Given the description of an element on the screen output the (x, y) to click on. 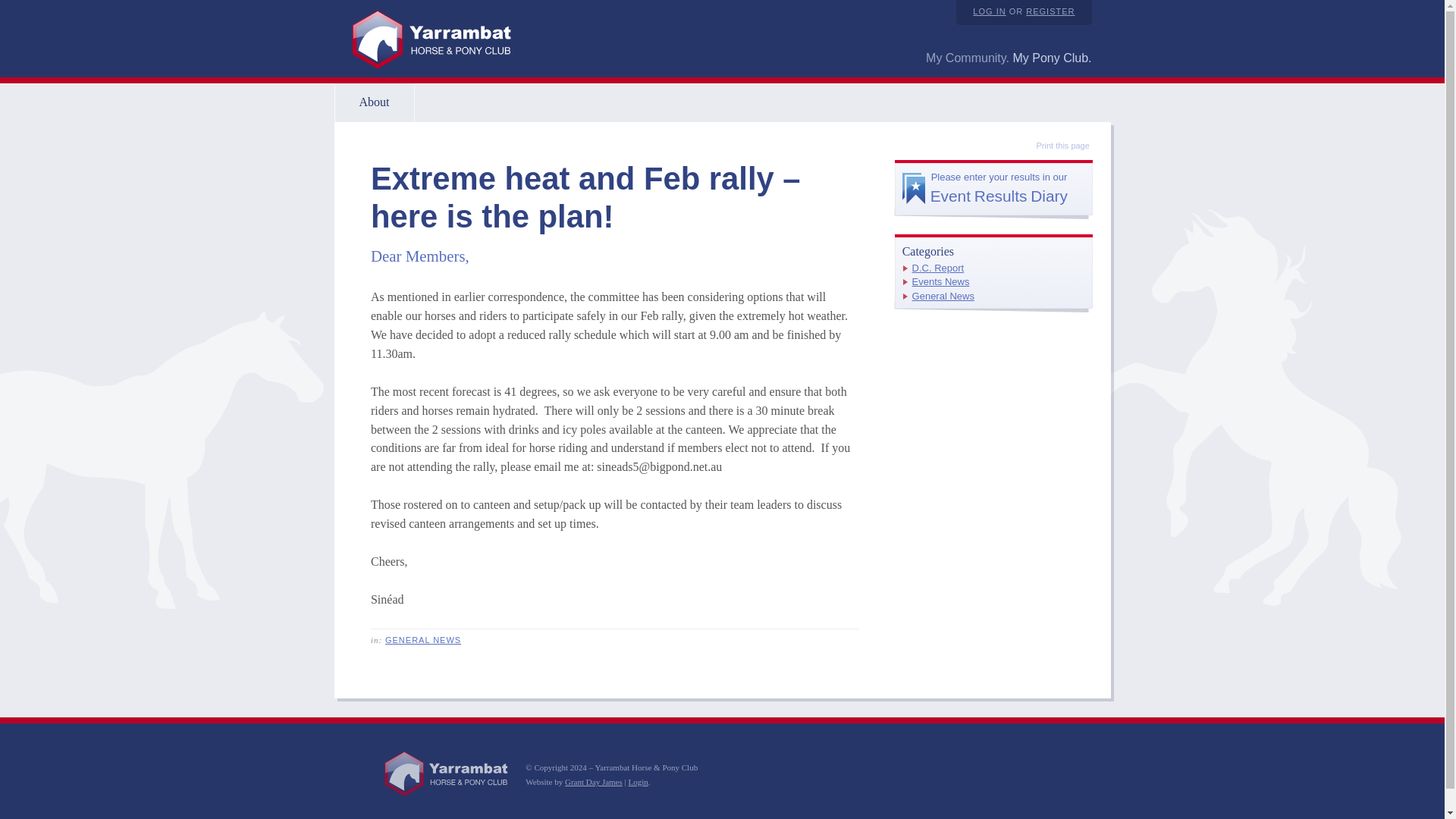
Visit this external site (593, 781)
Back to home (431, 40)
General News (943, 296)
Login (637, 781)
D.C. Report (937, 267)
GENERAL NEWS (423, 639)
Print this page (1054, 145)
Back to home (446, 774)
REGISTER (1050, 10)
Administer this website (637, 781)
About (994, 187)
LOG IN (373, 102)
Grant Day James (989, 10)
Events News (593, 781)
